Given the description of an element on the screen output the (x, y) to click on. 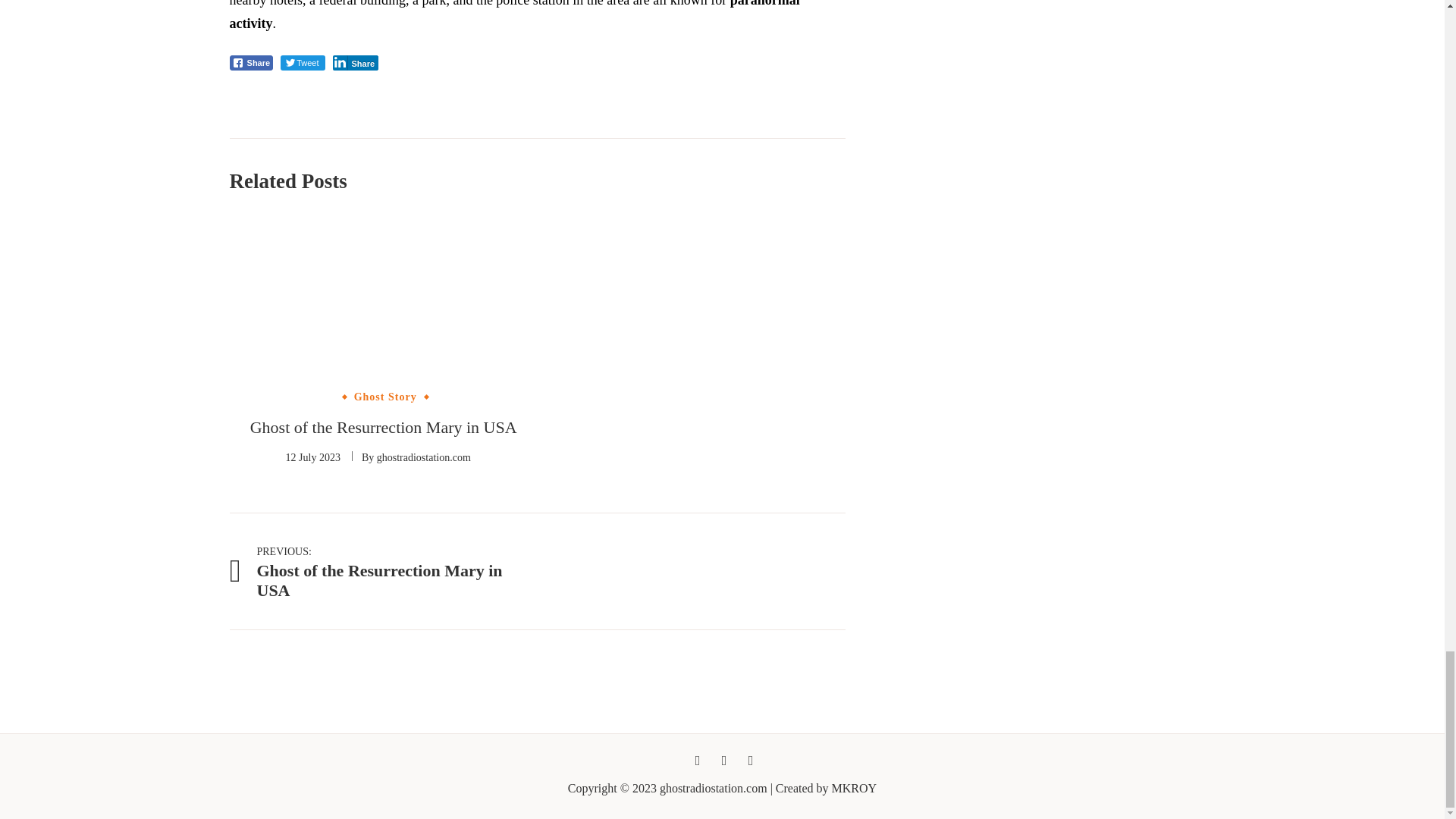
Share (354, 62)
Ghost Story (385, 397)
12 July 2023 (312, 457)
Tweet (302, 62)
ghostradiostation.com (423, 457)
Share (250, 62)
Ghost of the Resurrection Mary in USA (382, 570)
